Given the description of an element on the screen output the (x, y) to click on. 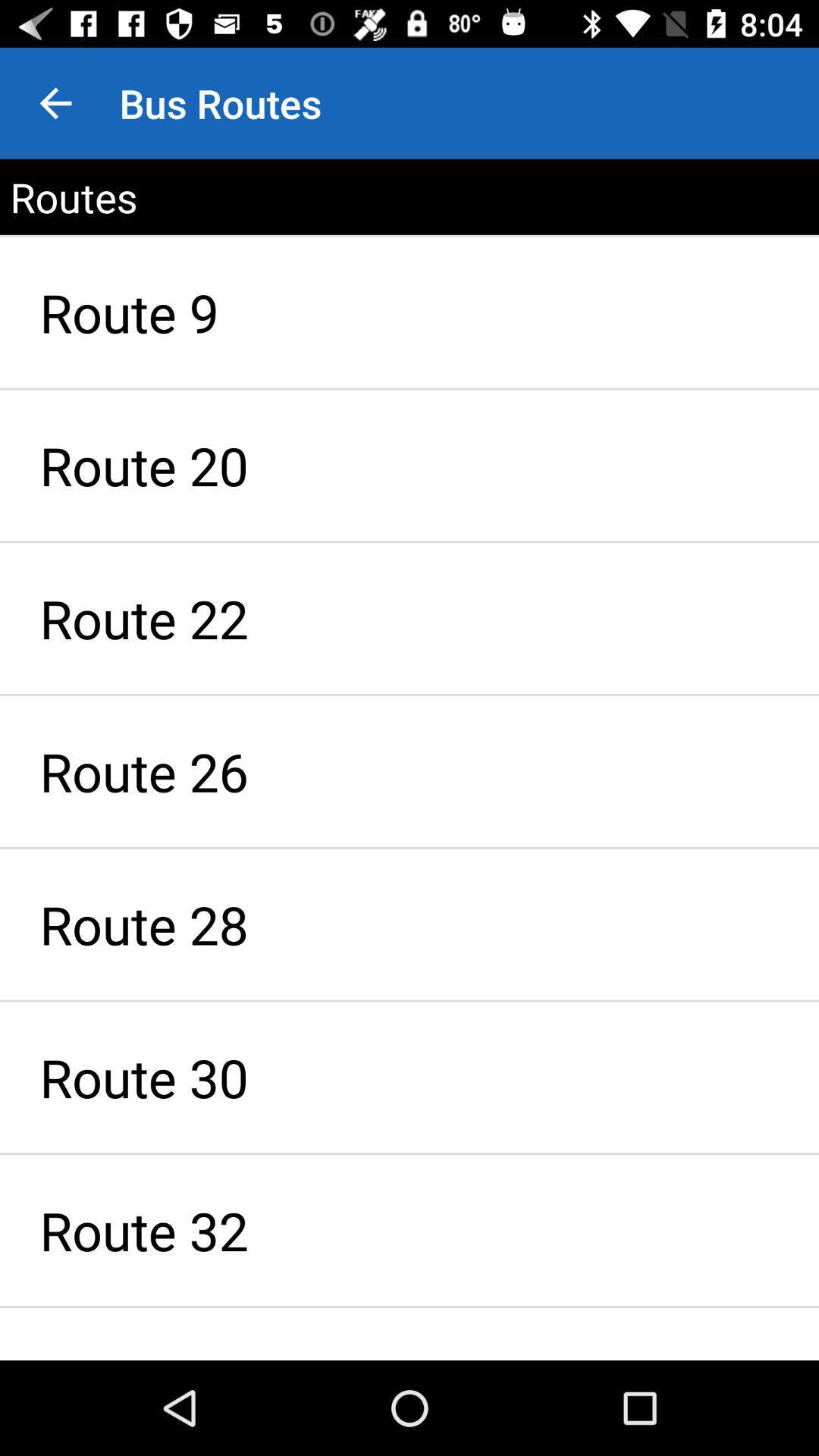
press app to the left of bus routes item (55, 103)
